Given the description of an element on the screen output the (x, y) to click on. 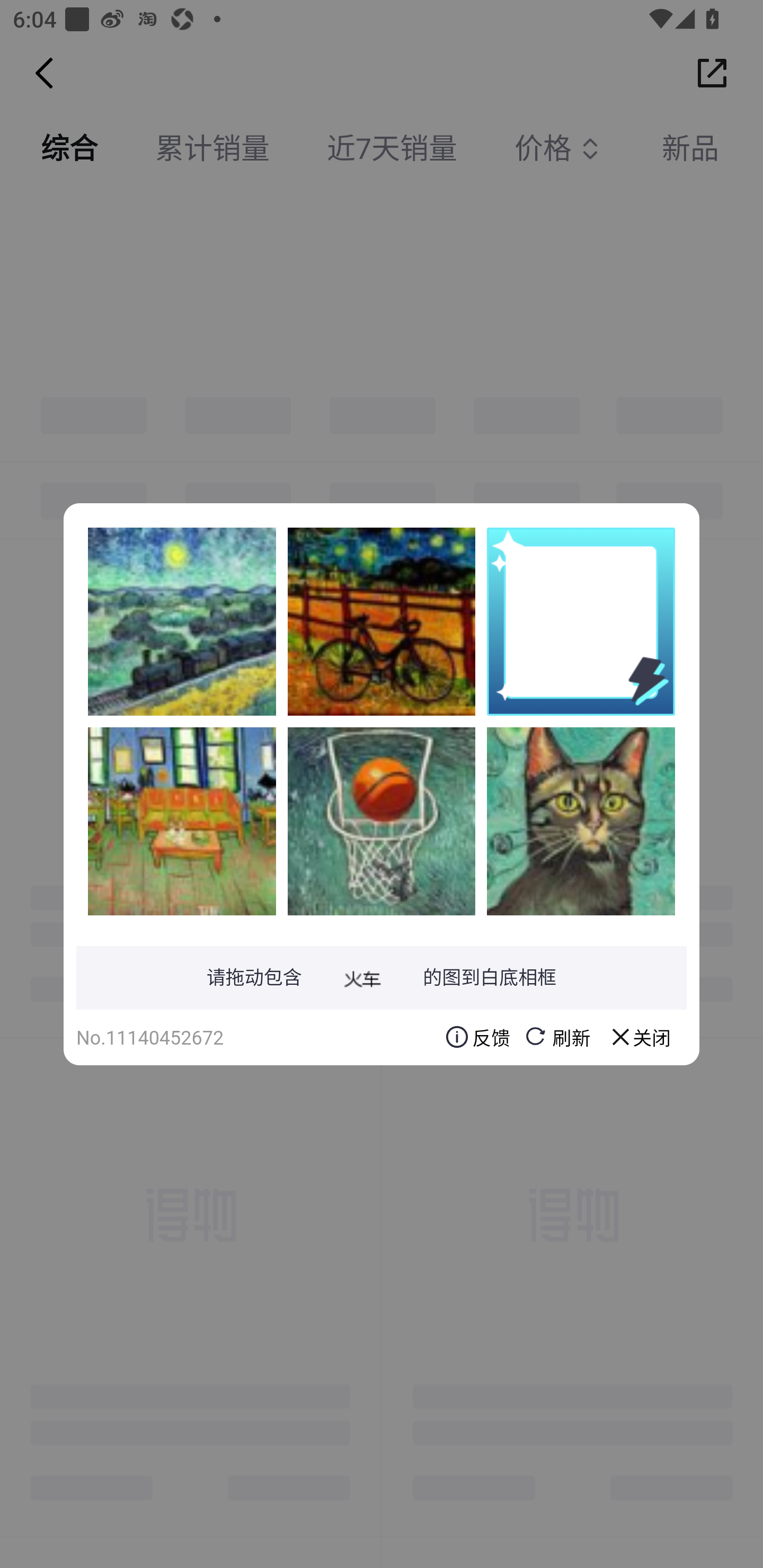
rdVf (181, 621)
9kf500KQXw74+O (381, 621)
